Given the description of an element on the screen output the (x, y) to click on. 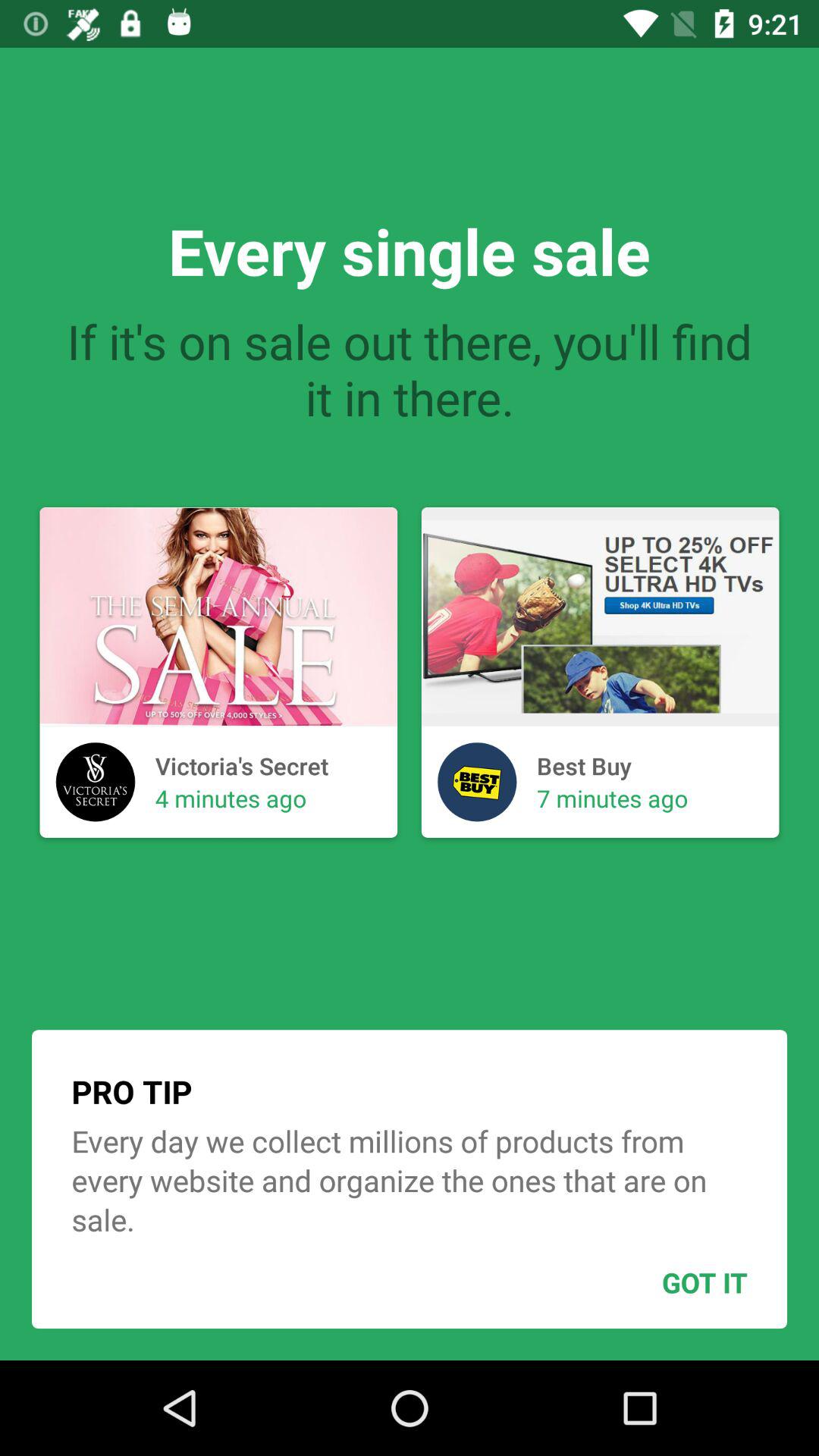
click on the got it (667, 1282)
select the first image (219, 672)
select icon which says victorias secret (95, 782)
move to image which is left victorias secret (95, 782)
